Given the description of an element on the screen output the (x, y) to click on. 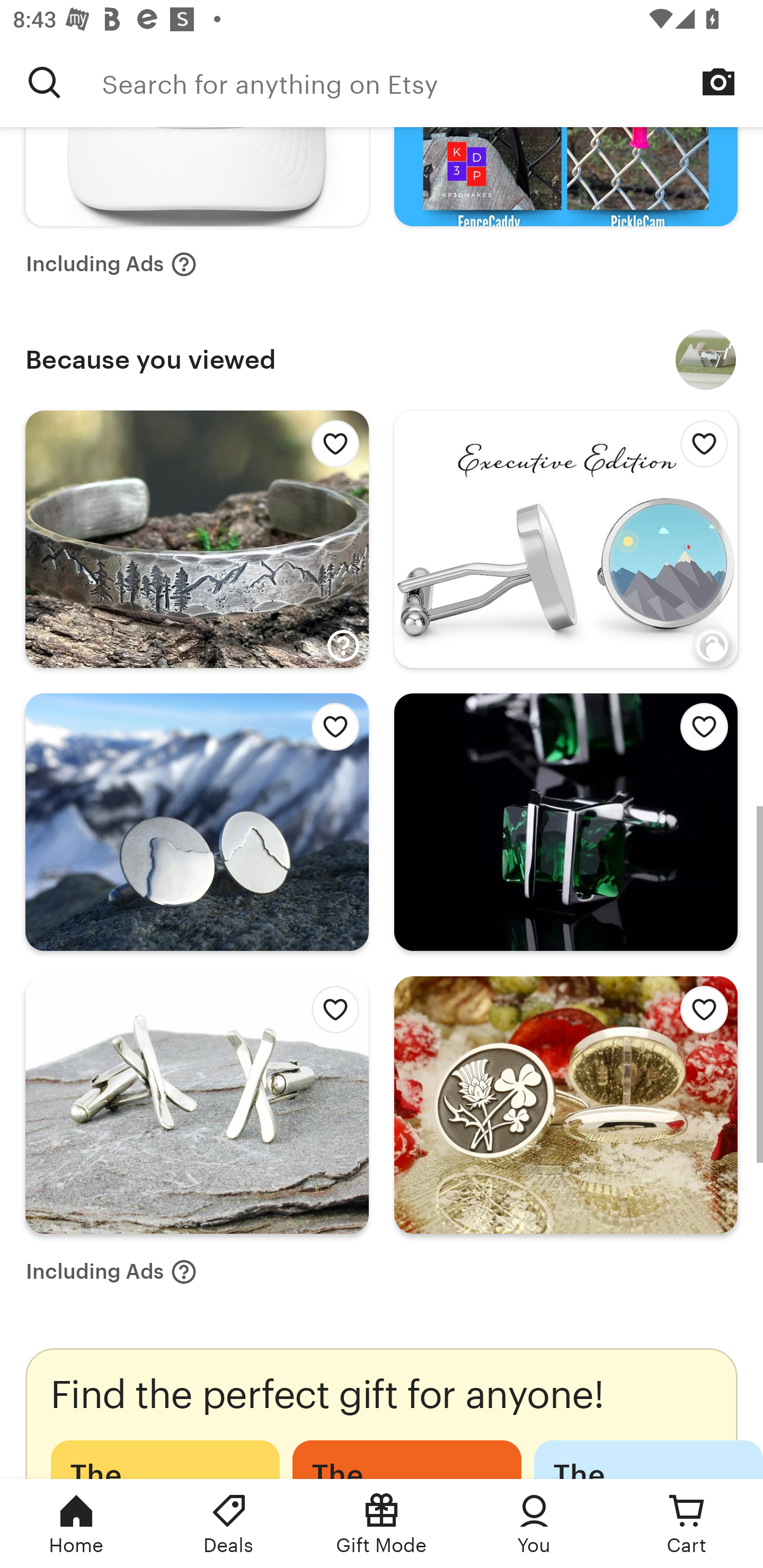
Search for anything on Etsy (44, 82)
Search by image (718, 81)
Search for anything on Etsy (432, 82)
Including Ads (111, 263)
Including Ads (111, 1271)
Find the perfect gift for anyone! (381, 1413)
Deals (228, 1523)
Gift Mode (381, 1523)
You (533, 1523)
Cart (686, 1523)
